Given the description of an element on the screen output the (x, y) to click on. 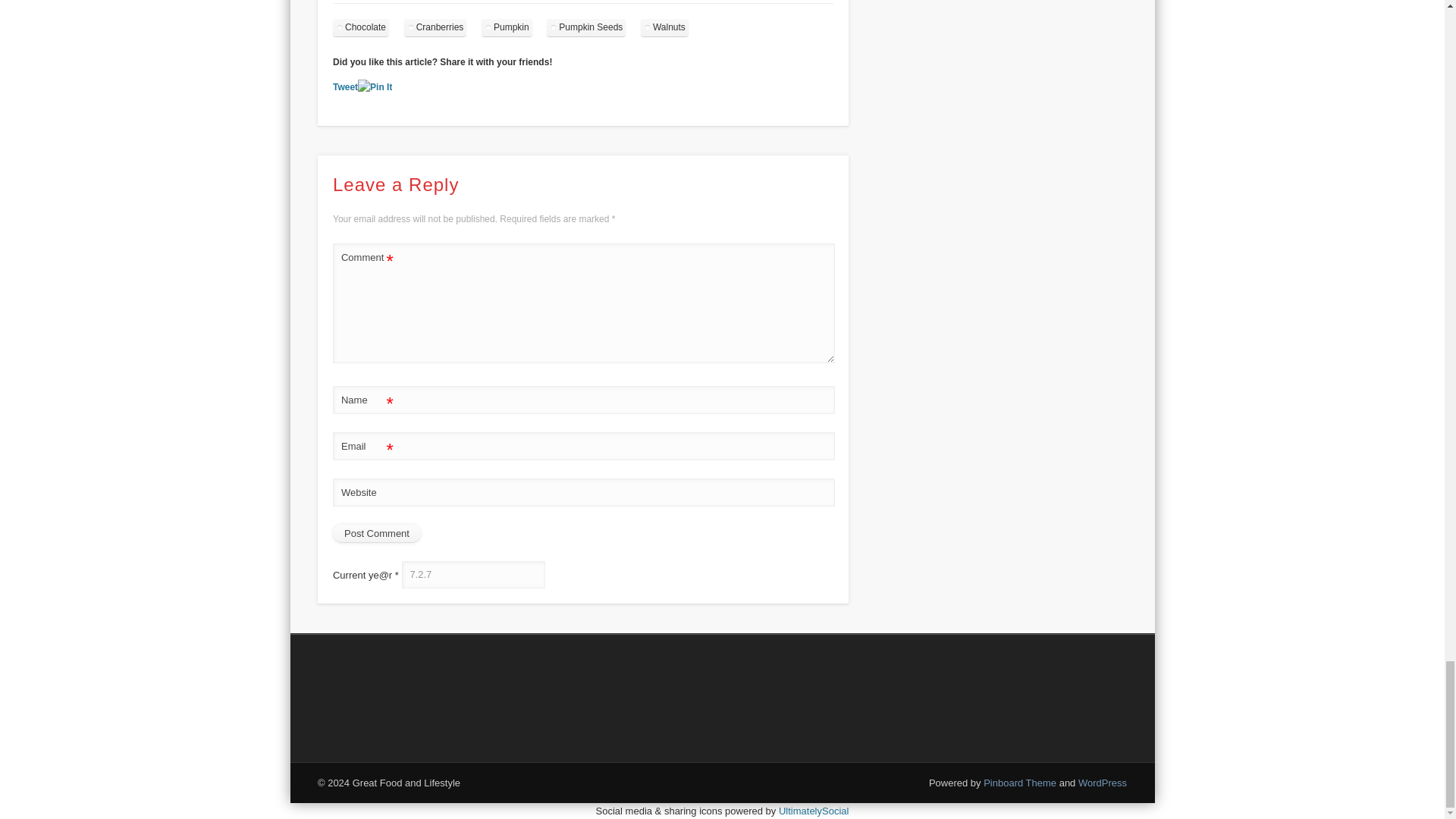
Post Comment (376, 533)
7.2.7 (473, 574)
Pin It (374, 87)
